Given the description of an element on the screen output the (x, y) to click on. 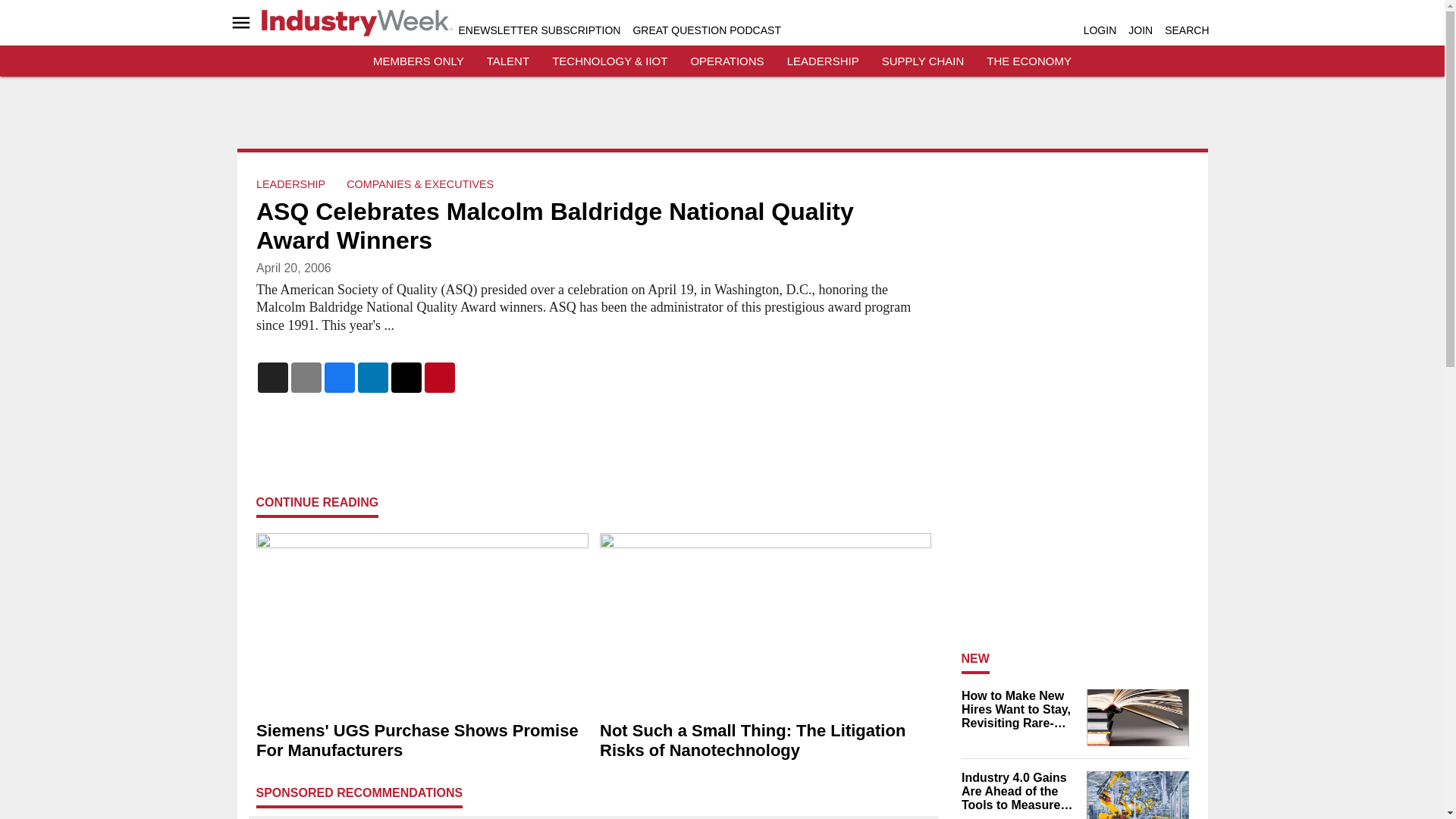
LEADERSHIP (290, 184)
LOGIN (1099, 30)
OPERATIONS (726, 60)
MEMBERS ONLY (418, 60)
SUPPLY CHAIN (922, 60)
LEADERSHIP (823, 60)
ENEWSLETTER SUBSCRIPTION (539, 30)
SEARCH (1186, 30)
GREAT QUESTION PODCAST (705, 30)
TALENT (507, 60)
JOIN (1140, 30)
THE ECONOMY (1029, 60)
